Given the description of an element on the screen output the (x, y) to click on. 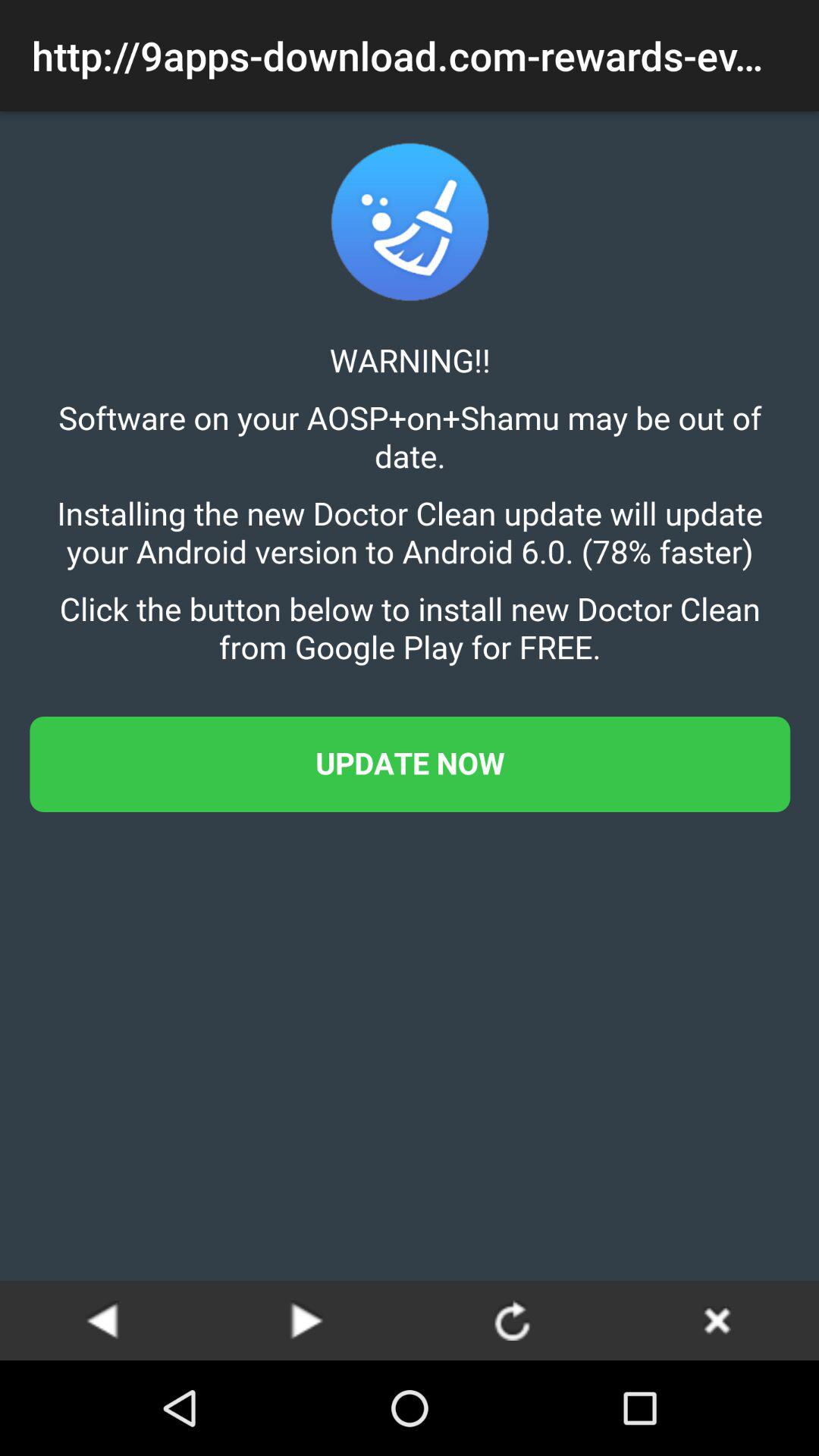
next page (306, 1320)
